Given the description of an element on the screen output the (x, y) to click on. 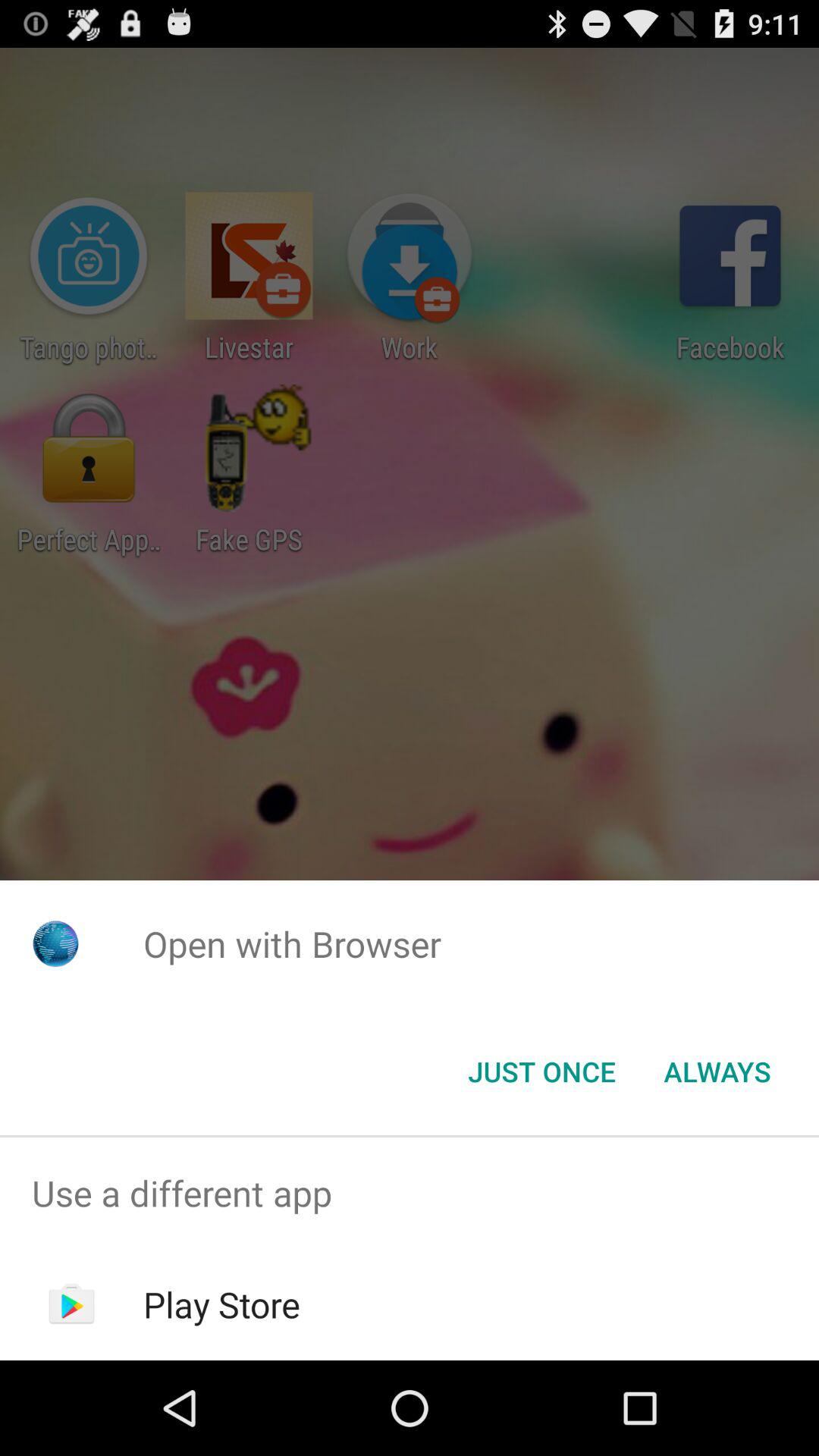
choose the always item (717, 1071)
